Given the description of an element on the screen output the (x, y) to click on. 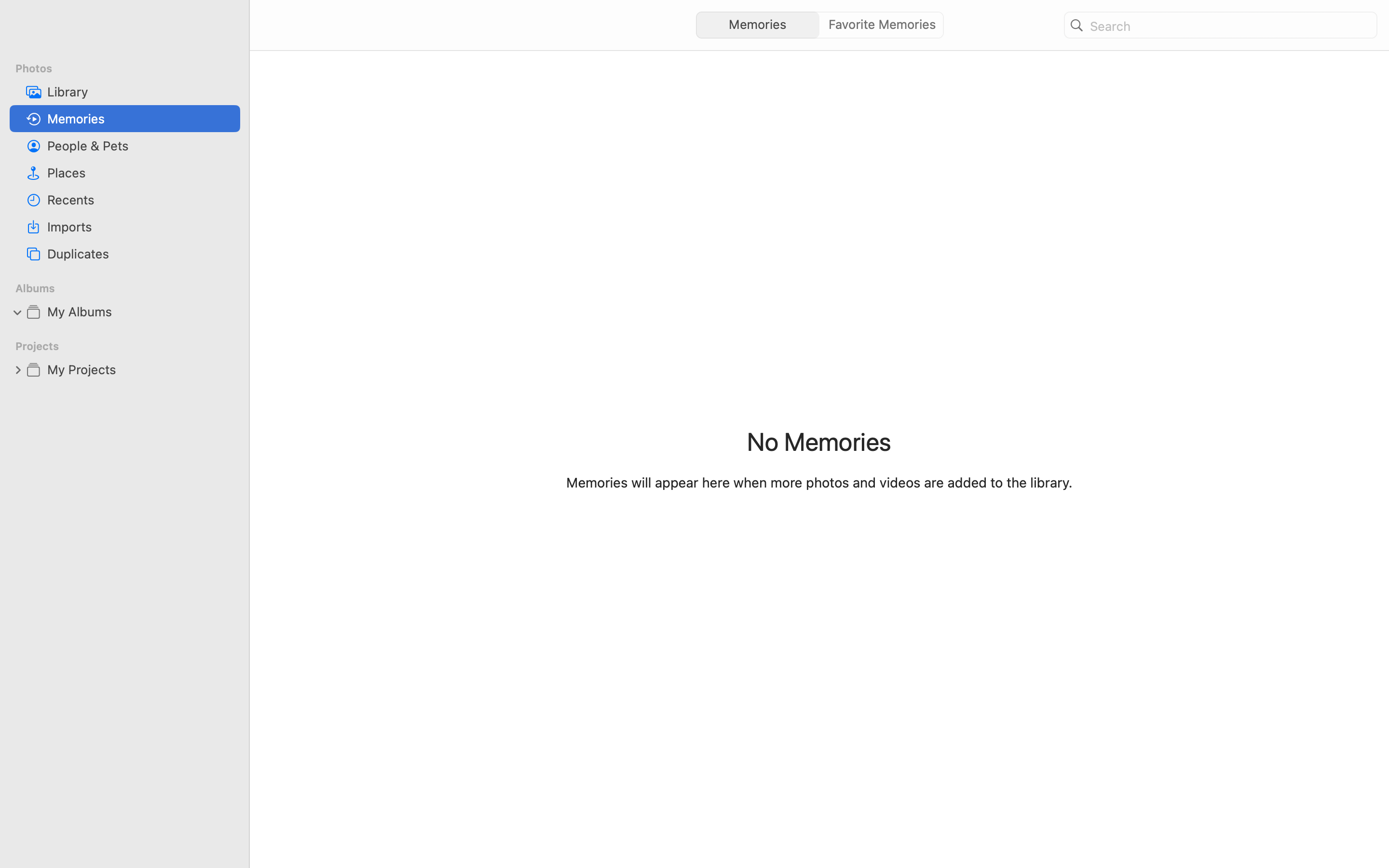
Imports Element type: AXStaticText (139, 226)
1 Element type: AXDisclosureTriangle (17, 311)
<AXUIElement 0x11e78e5d0> {pid=1091} Element type: AXRadioGroup (819, 24)
0 Element type: AXRadioButton (884, 24)
Memories will appear here when more photos and videos are added to the library. Element type: AXStaticText (819, 481)
